Given the description of an element on the screen output the (x, y) to click on. 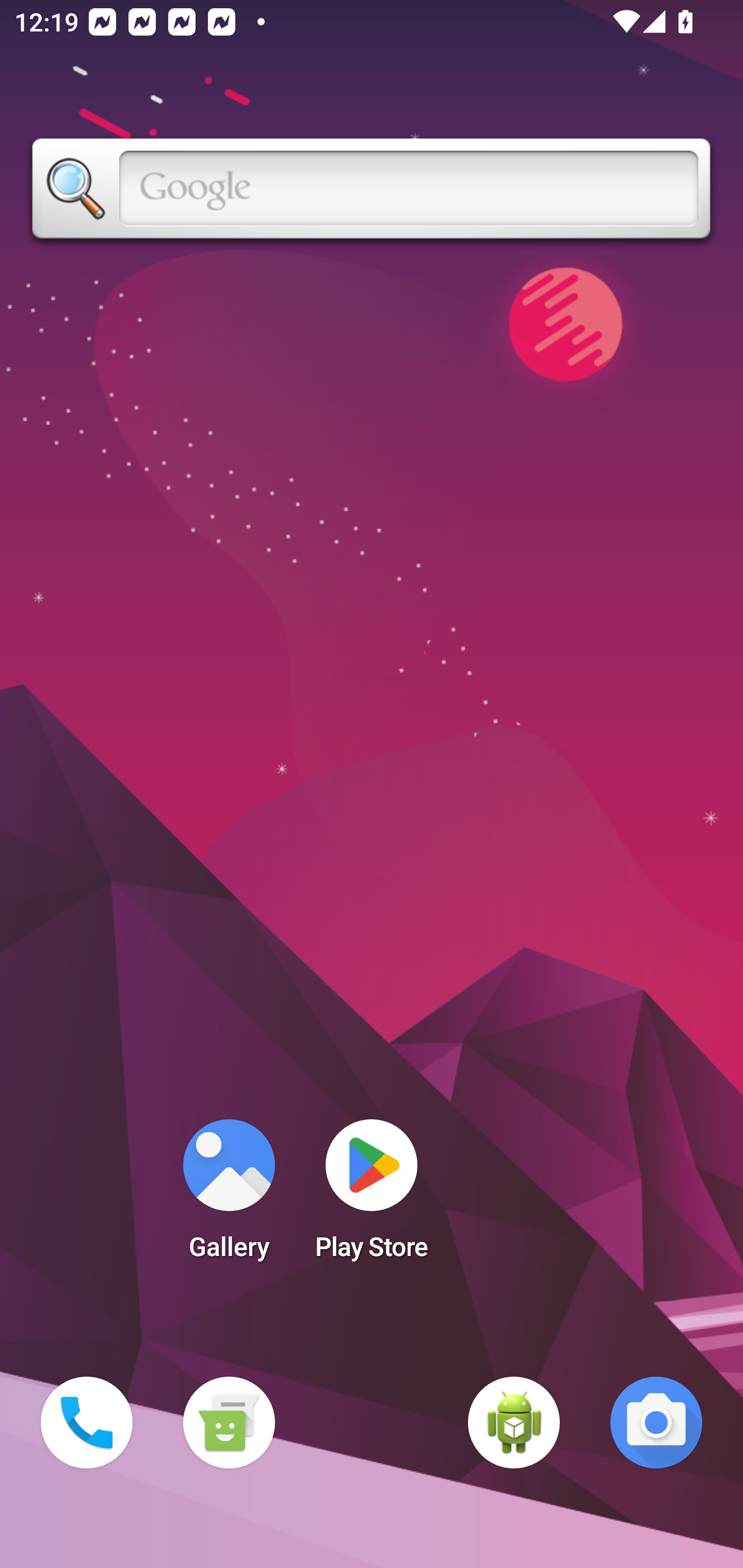
Gallery (228, 1195)
Play Store (371, 1195)
Phone (86, 1422)
Messaging (228, 1422)
WebView Browser Tester (513, 1422)
Camera (656, 1422)
